Given the description of an element on the screen output the (x, y) to click on. 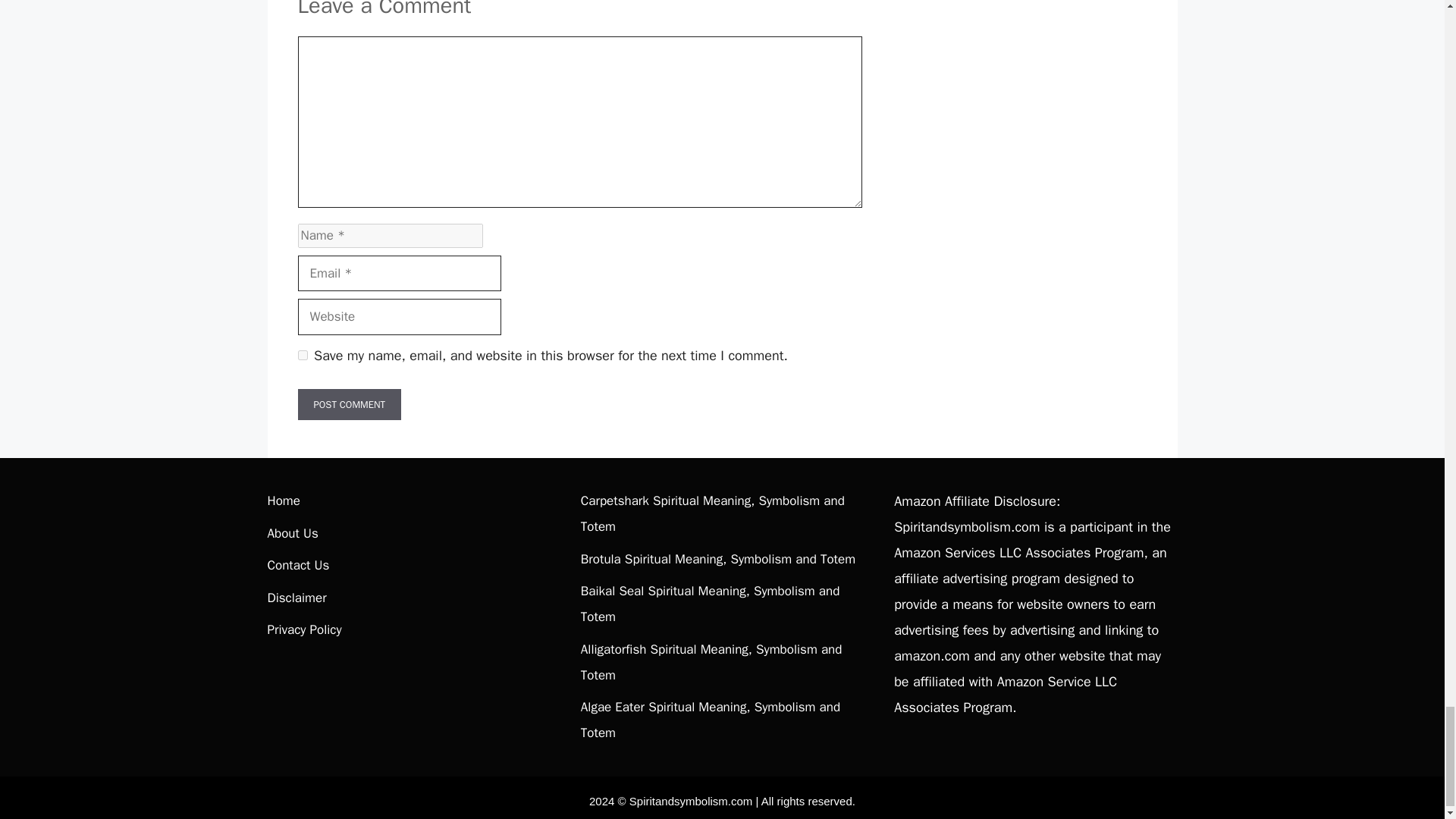
Carpetshark Spiritual Meaning, Symbolism and Totem (712, 513)
About Us (291, 533)
Post Comment (349, 404)
Contact Us (297, 565)
Disclaimer (296, 597)
yes (302, 355)
Home (282, 500)
Privacy Policy (303, 629)
Post Comment (349, 404)
